Given the description of an element on the screen output the (x, y) to click on. 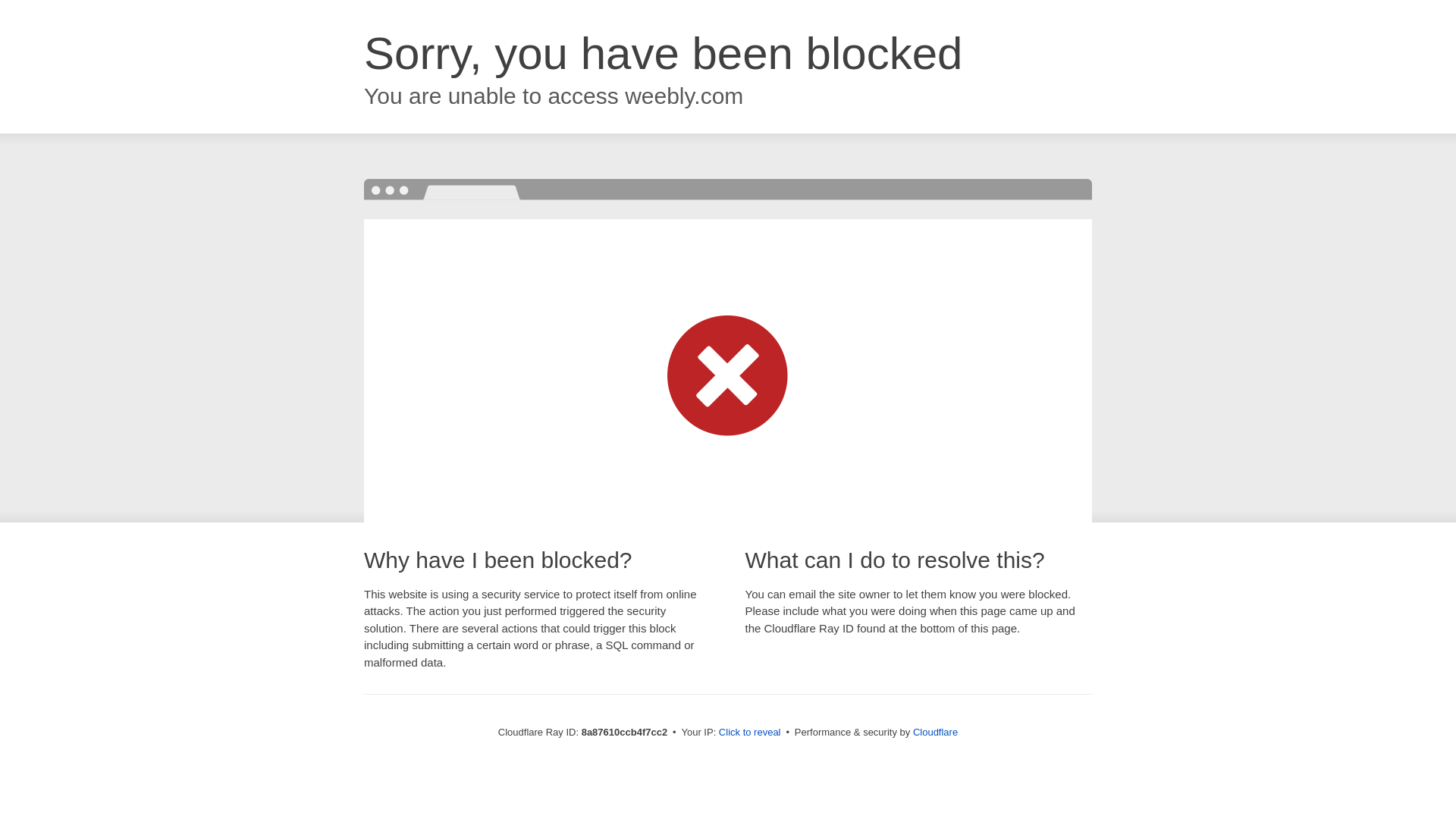
Cloudflare (935, 731)
Click to reveal (749, 732)
